Given the description of an element on the screen output the (x, y) to click on. 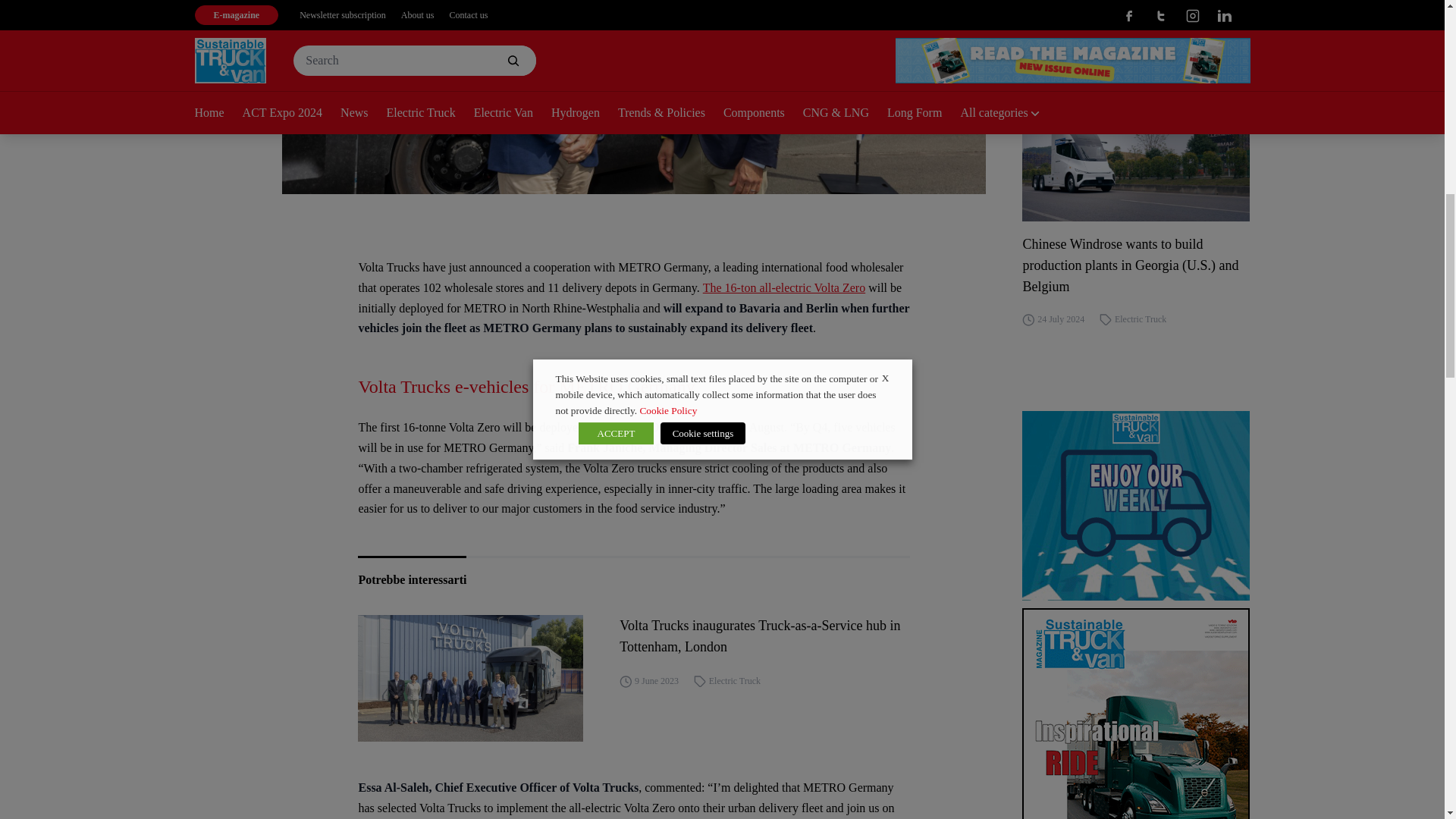
The 16-ton all-electric Volta Zero (783, 287)
